Given the description of an element on the screen output the (x, y) to click on. 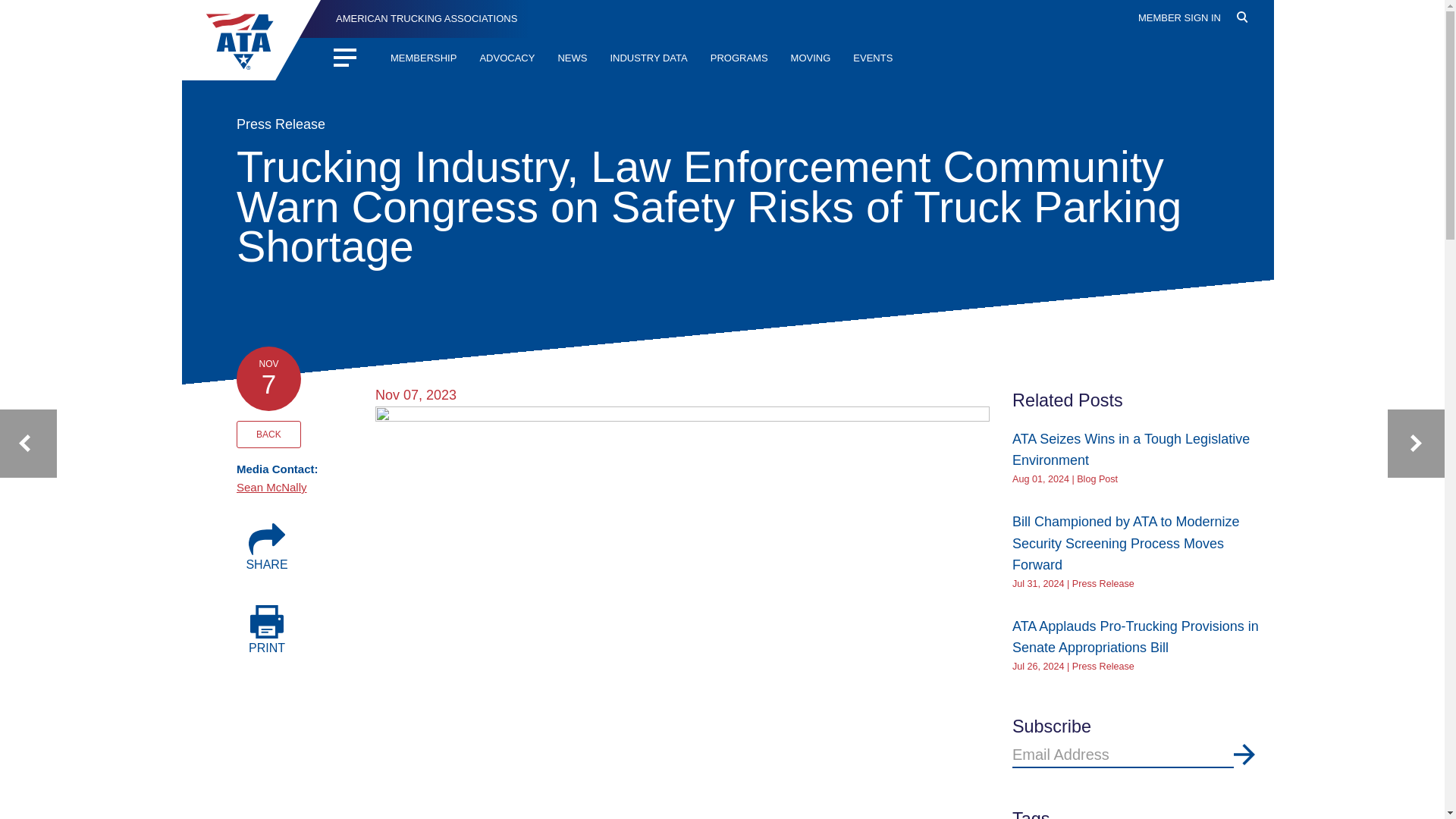
Link to Home (413, 18)
EVENTS (872, 58)
PROGRAMS (738, 58)
MEMBERSHIP (422, 58)
Link to Home around Site Logo image (256, 40)
INDUSTRY DATA (648, 58)
MEMBER SIGN IN (1179, 17)
AMERICAN TRUCKING ASSOCIATIONS (413, 18)
Search (1251, 43)
NEWS (572, 58)
MOVING (810, 58)
ADVOCACY (506, 58)
